Given the description of an element on the screen output the (x, y) to click on. 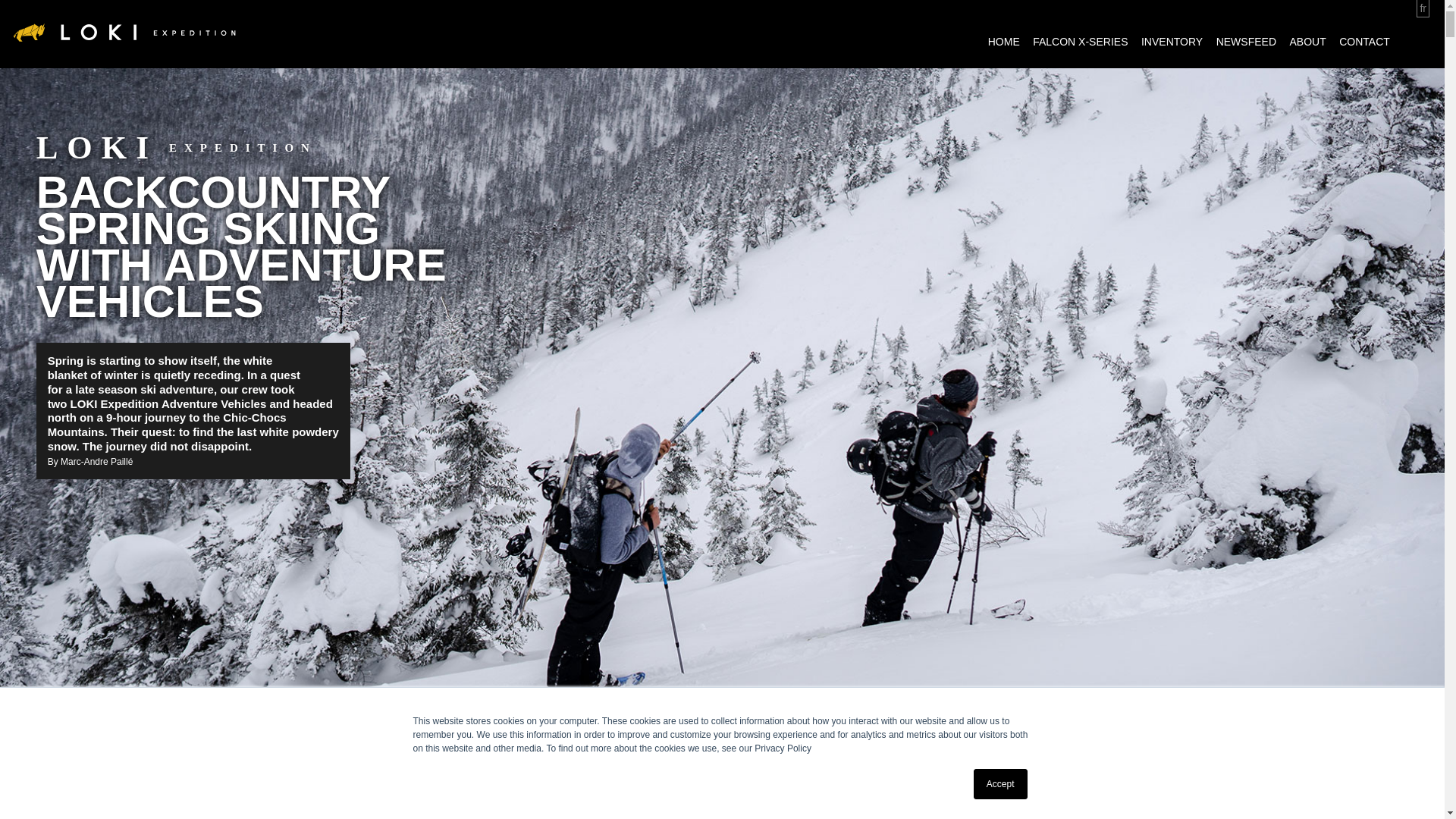
HOME (1004, 41)
NEWSFEED (1245, 41)
FALCON X-SERIES (1079, 41)
Accept (1000, 784)
INVENTORY (1171, 41)
